Given the description of an element on the screen output the (x, y) to click on. 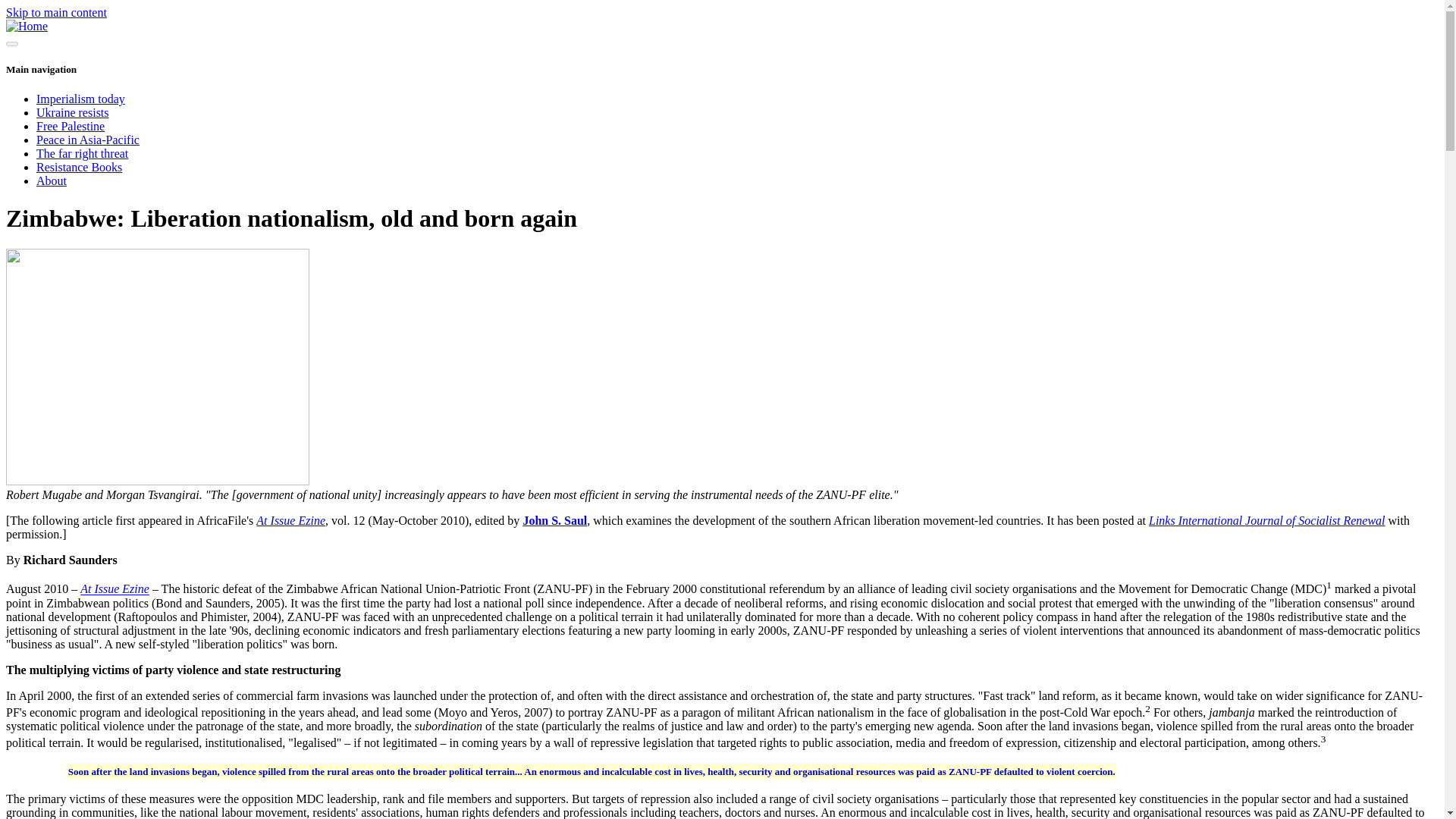
Resistance Books (79, 166)
The far right threat (82, 153)
Home (26, 25)
At Issue Ezine (114, 589)
Peace in Asia-Pacific (87, 139)
Free Palestine (70, 125)
Links International Journal of Socialist Renewal (1267, 520)
Understanding Putin's war on Ukraine (72, 112)
At Issue Ezine (290, 520)
Resistance Books (79, 166)
